Given the description of an element on the screen output the (x, y) to click on. 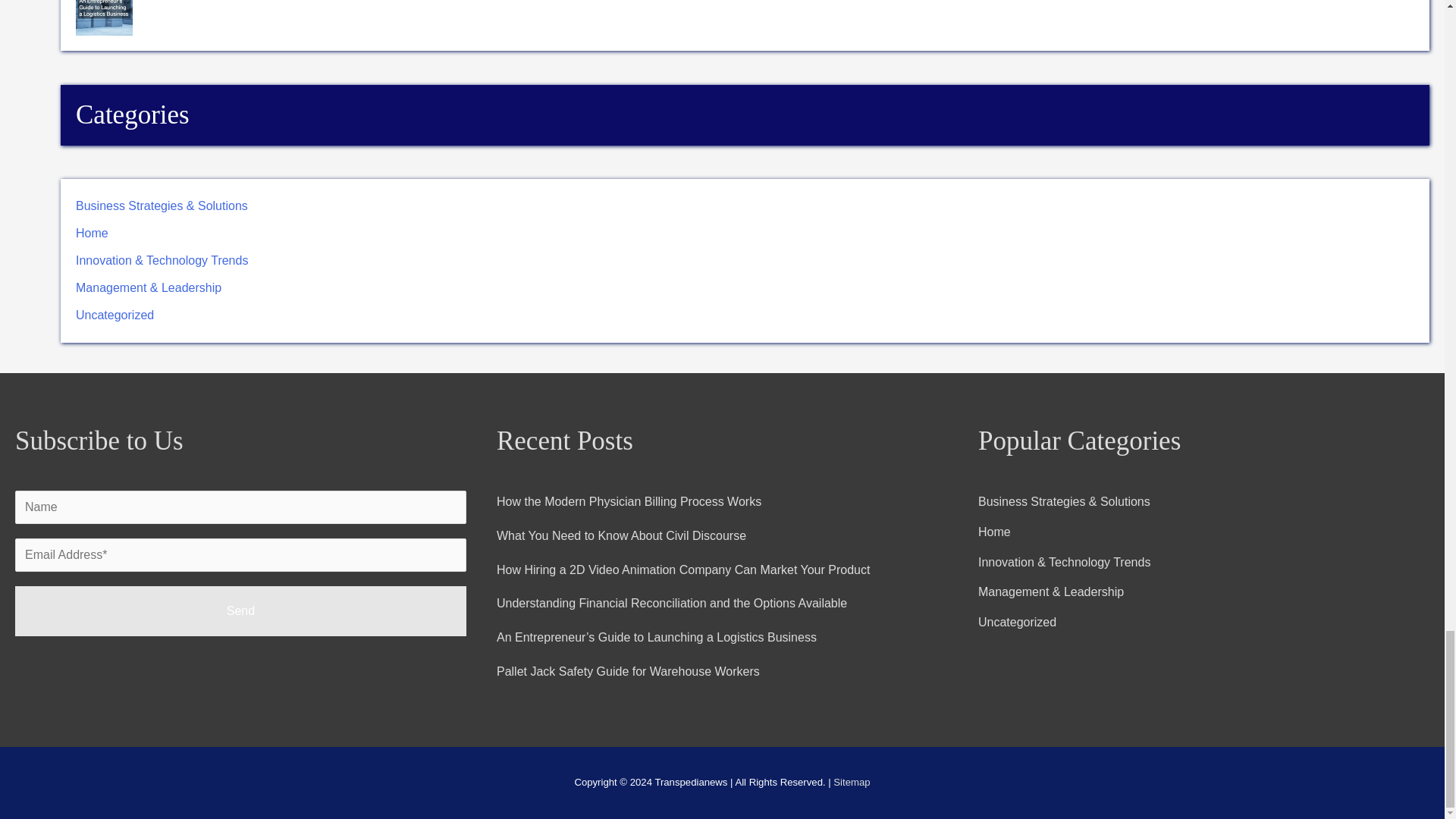
Uncategorized (114, 314)
How the Modern Physician Billing Process Works (628, 501)
Send (239, 611)
Send (239, 611)
Home (91, 232)
Pallet Jack Safety Guide for Warehouse Workers (628, 671)
What You Need to Know About Civil Discourse (620, 535)
Home (994, 531)
